Given the description of an element on the screen output the (x, y) to click on. 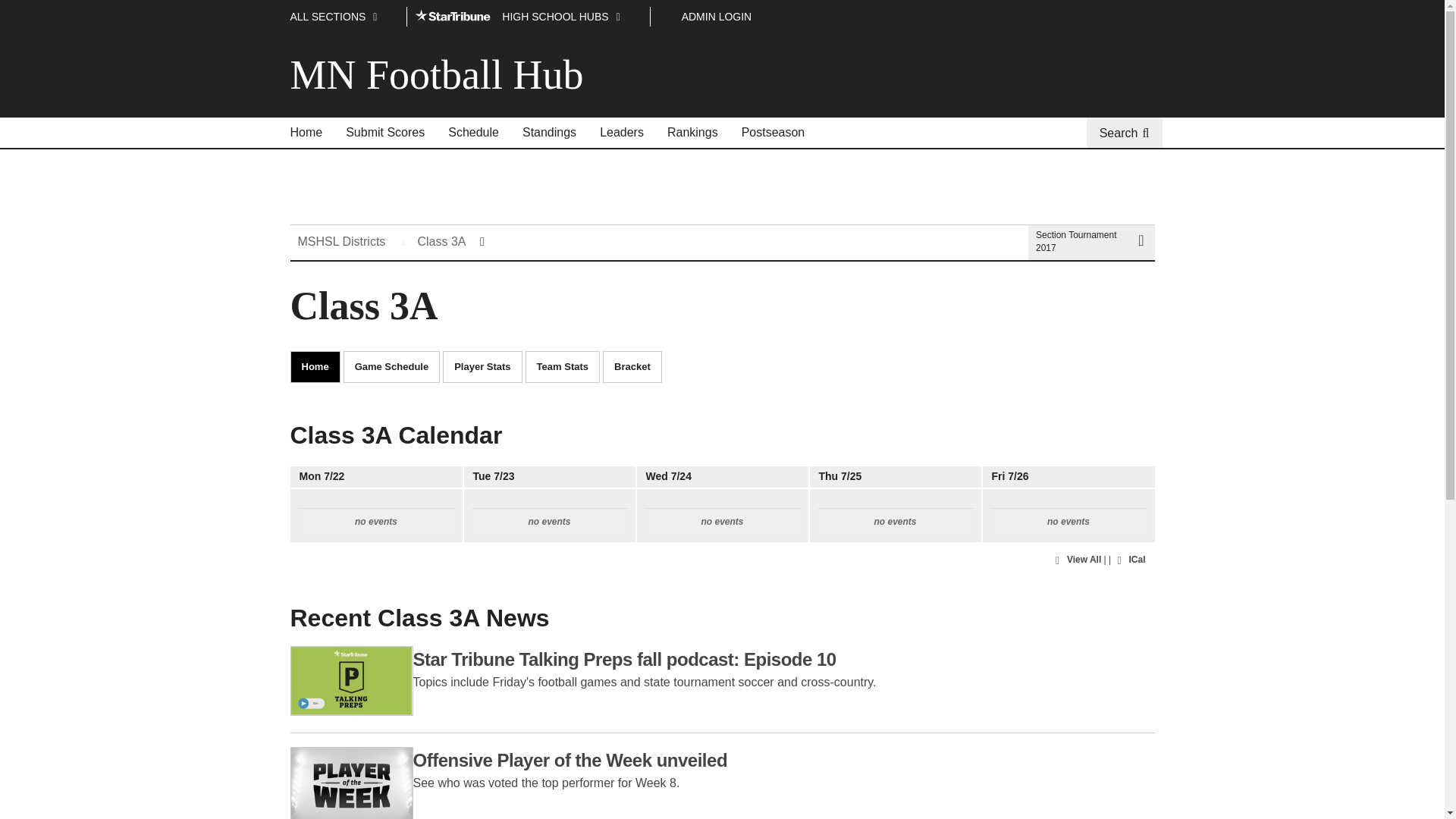
HIGH SCHOOL HUBS (528, 16)
Login (716, 16)
ALL SECTIONS (344, 16)
click to go to 'Home' (306, 132)
